Given the description of an element on the screen output the (x, y) to click on. 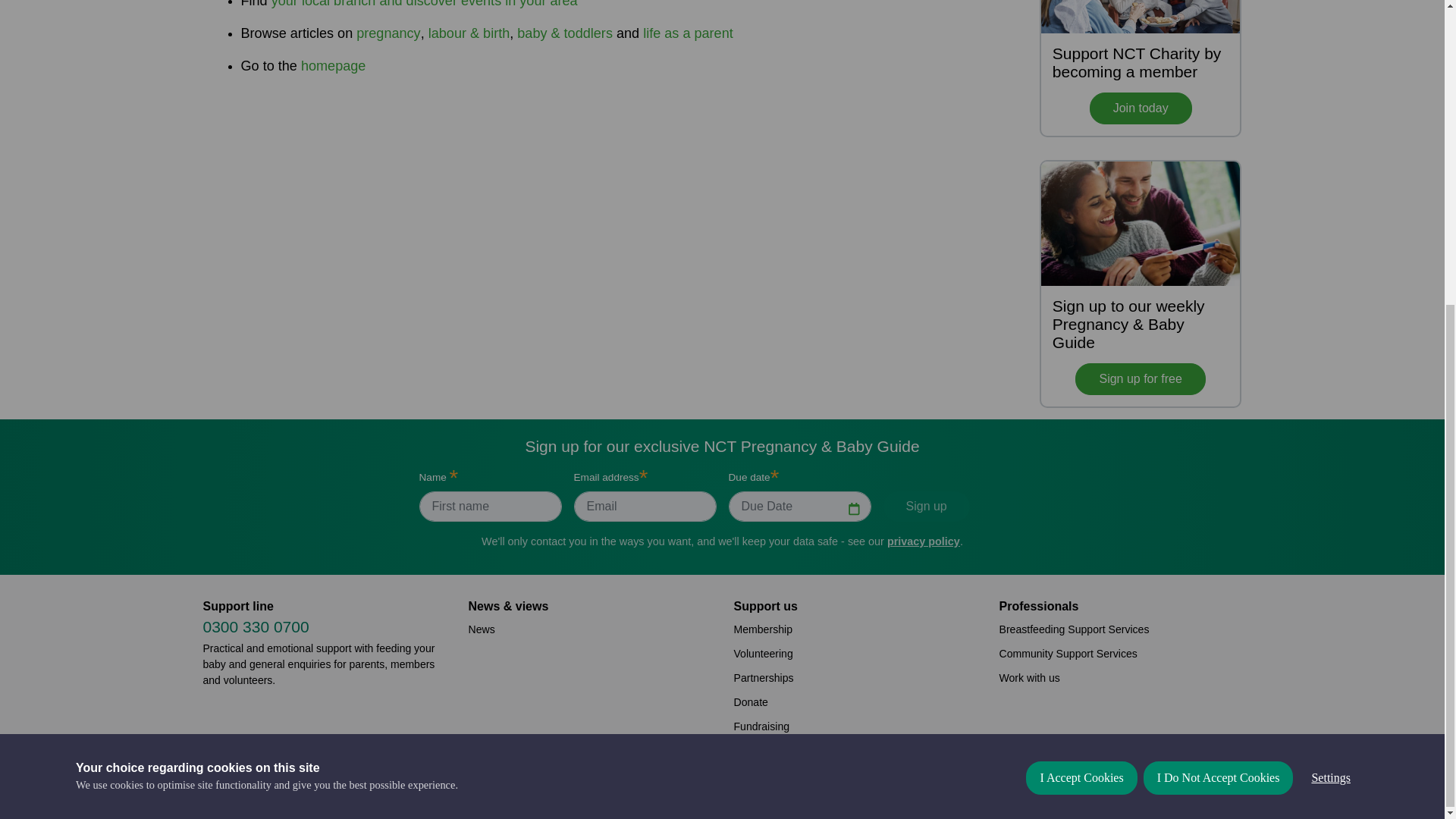
I Accept Cookies (1081, 377)
Settings (1330, 349)
Sign up (925, 506)
I Do Not Accept Cookies (1218, 365)
